Given the description of an element on the screen output the (x, y) to click on. 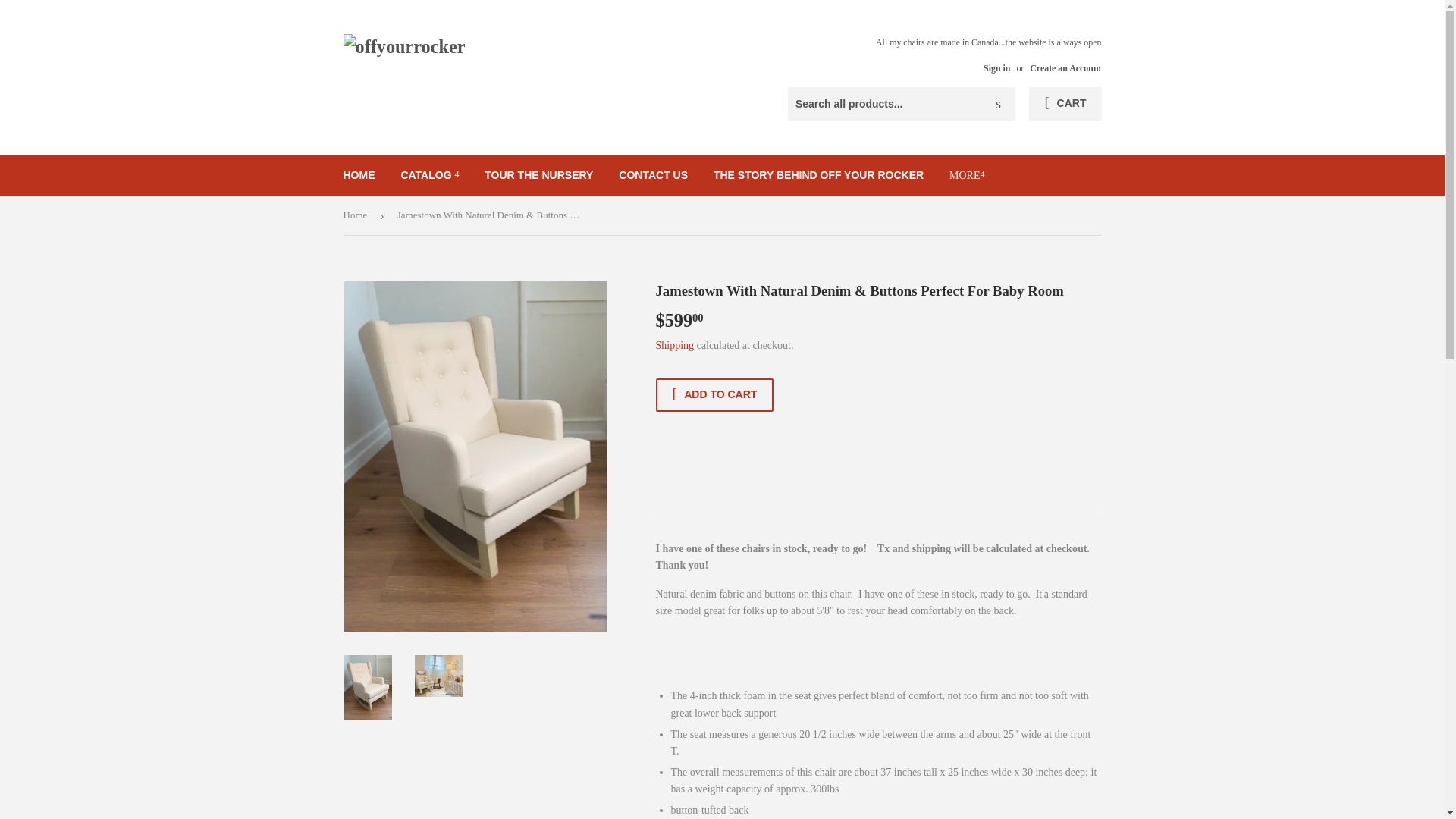
Search (997, 104)
Back to the frontpage (357, 215)
Sign in (997, 68)
CATALOG (429, 174)
CART (1064, 103)
HOME (359, 174)
Create an Account (1064, 68)
